Given the description of an element on the screen output the (x, y) to click on. 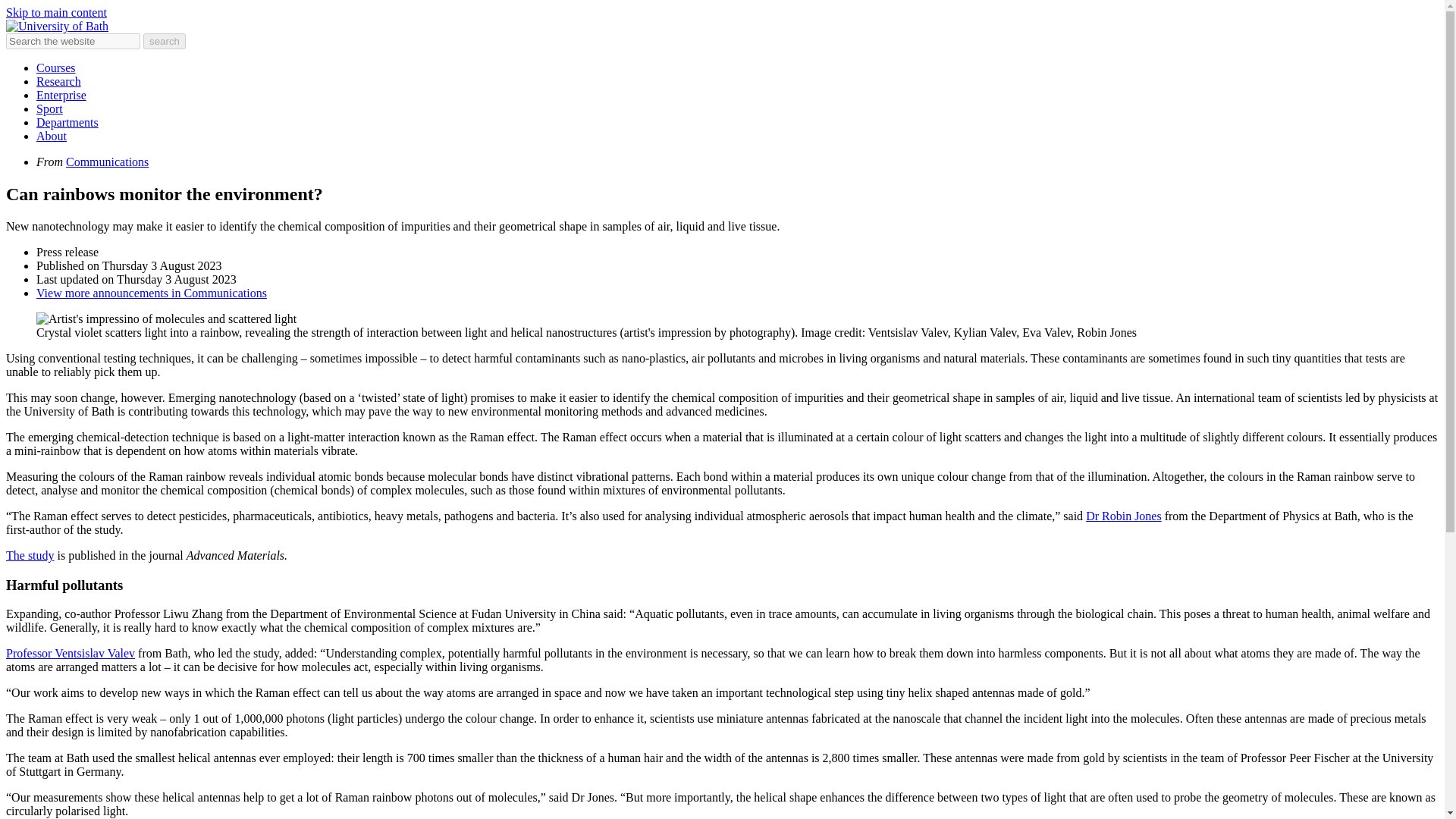
The study (30, 554)
About (51, 135)
search (164, 41)
View more announcements in Communications (151, 292)
Type search term here (72, 41)
search (164, 41)
Communications (106, 161)
Research (58, 81)
Skip to main content (55, 11)
Enterprise (60, 94)
